Given the description of an element on the screen output the (x, y) to click on. 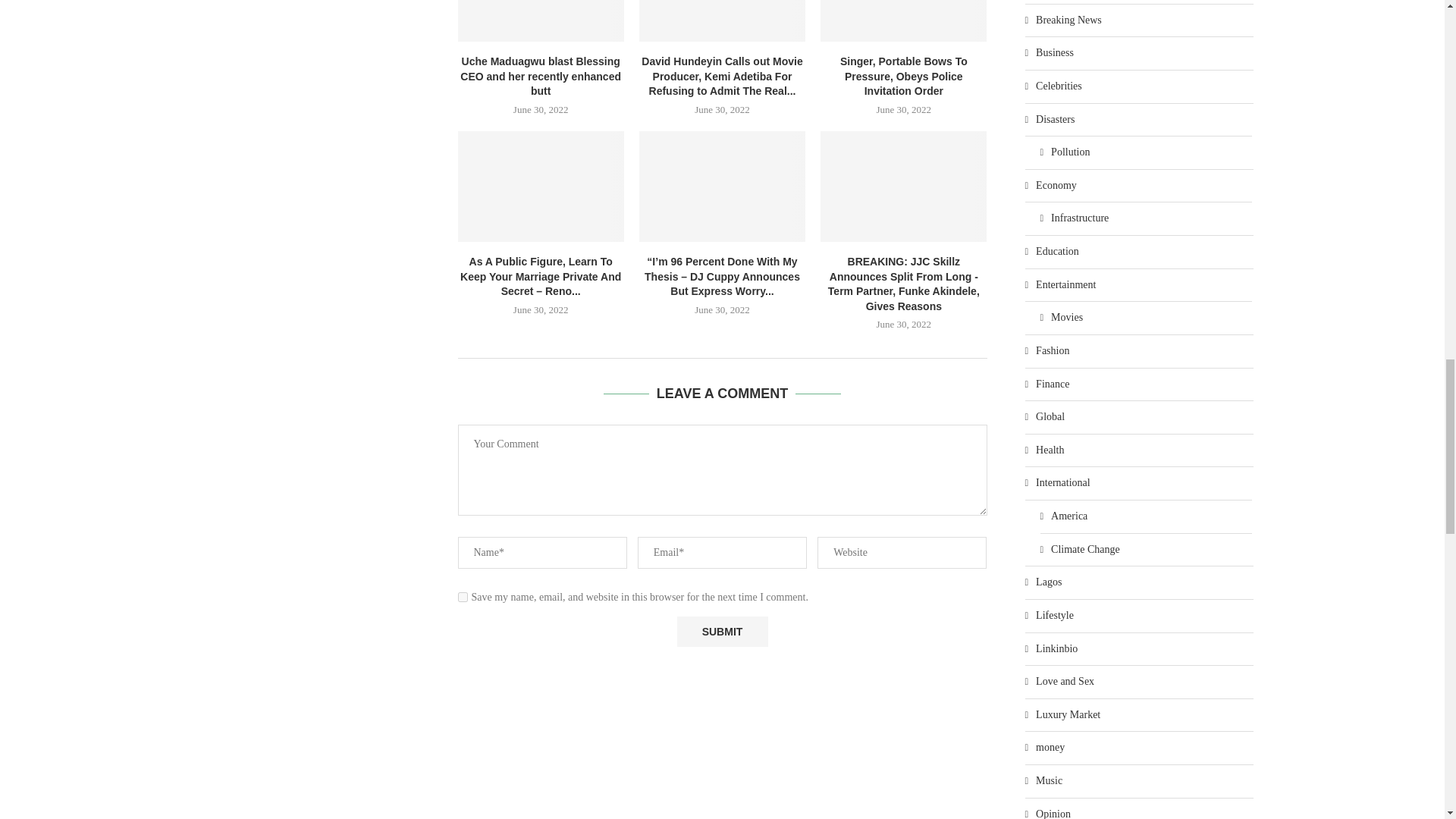
Submit (722, 631)
yes (462, 596)
